Given the description of an element on the screen output the (x, y) to click on. 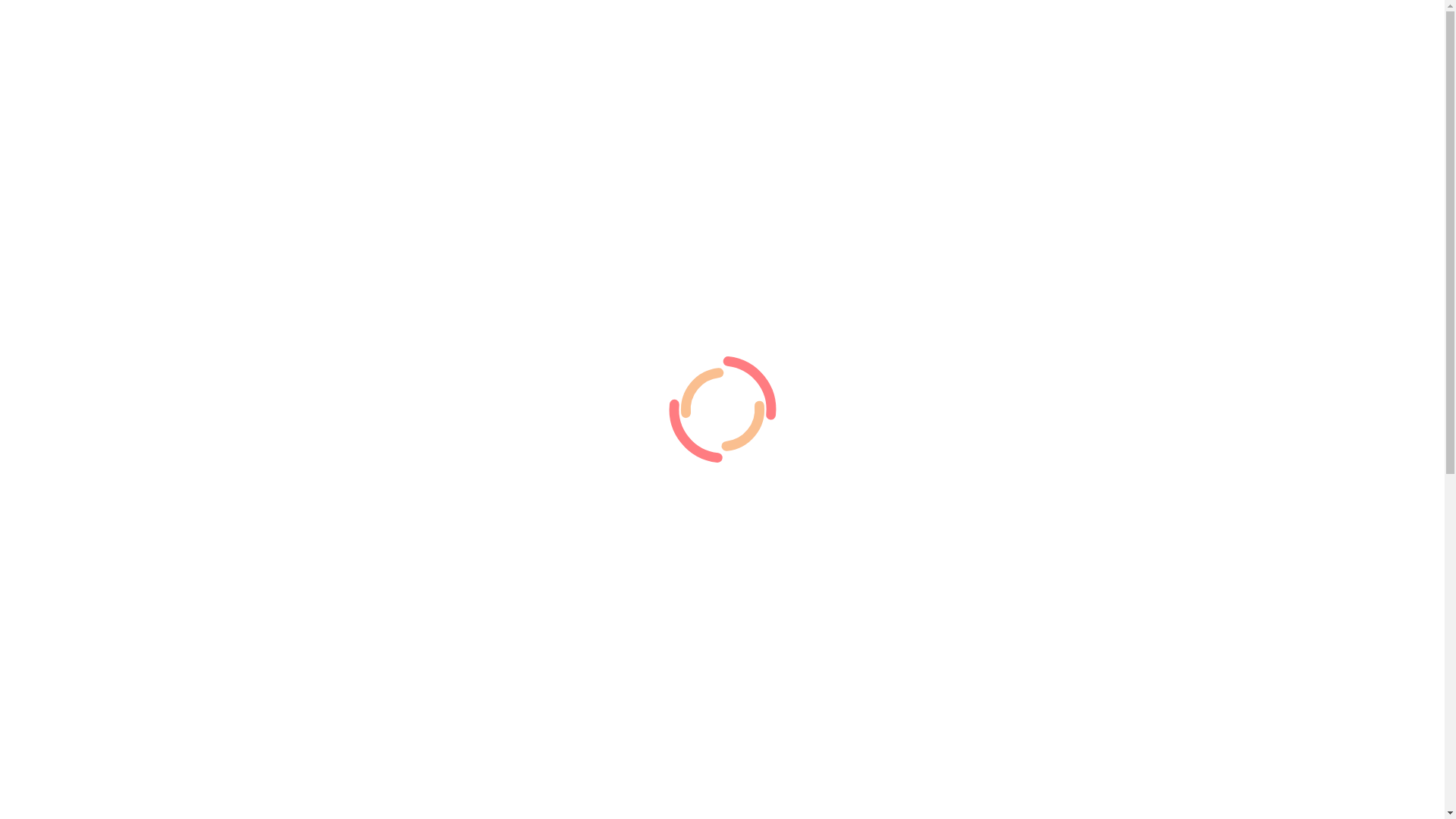
HOME Element type: text (1033, 43)
BLOG Element type: text (1088, 43)
BACK Element type: text (1139, 43)
